Given the description of an element on the screen output the (x, y) to click on. 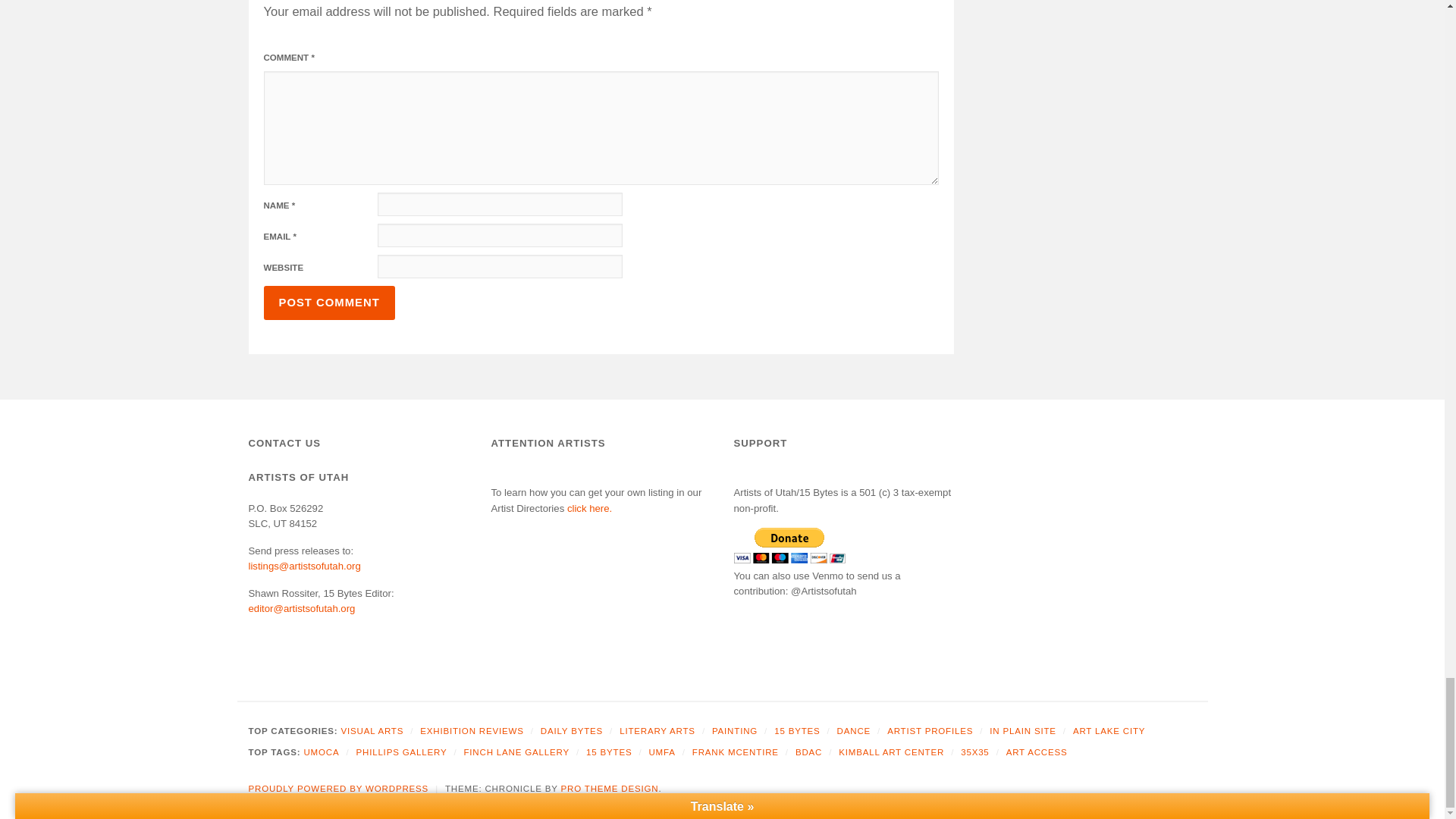
Post Comment (328, 302)
A Semantic Personal Publishing Platform (338, 788)
